Given the description of an element on the screen output the (x, y) to click on. 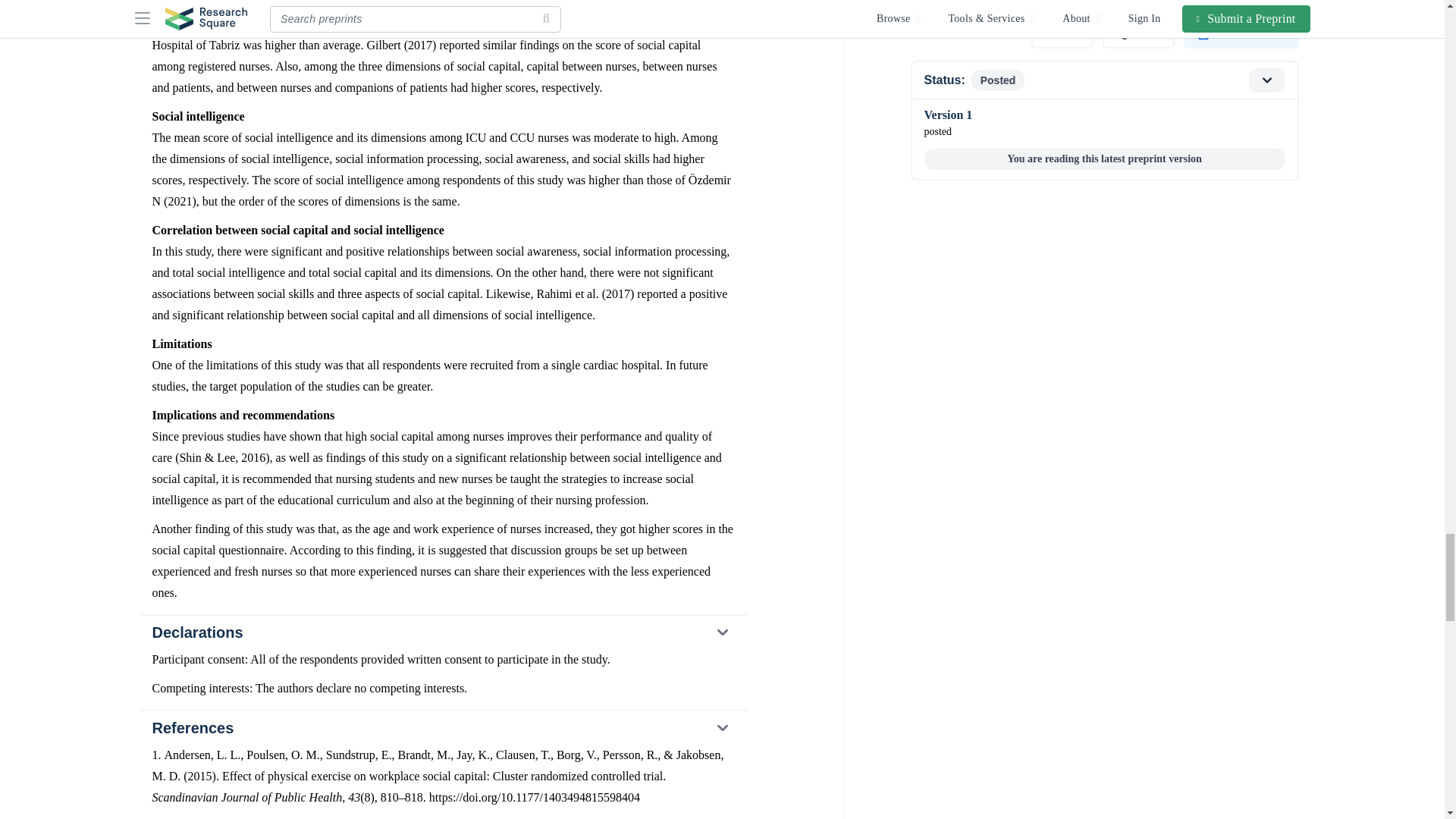
Declarations (442, 632)
References (442, 727)
